Given the description of an element on the screen output the (x, y) to click on. 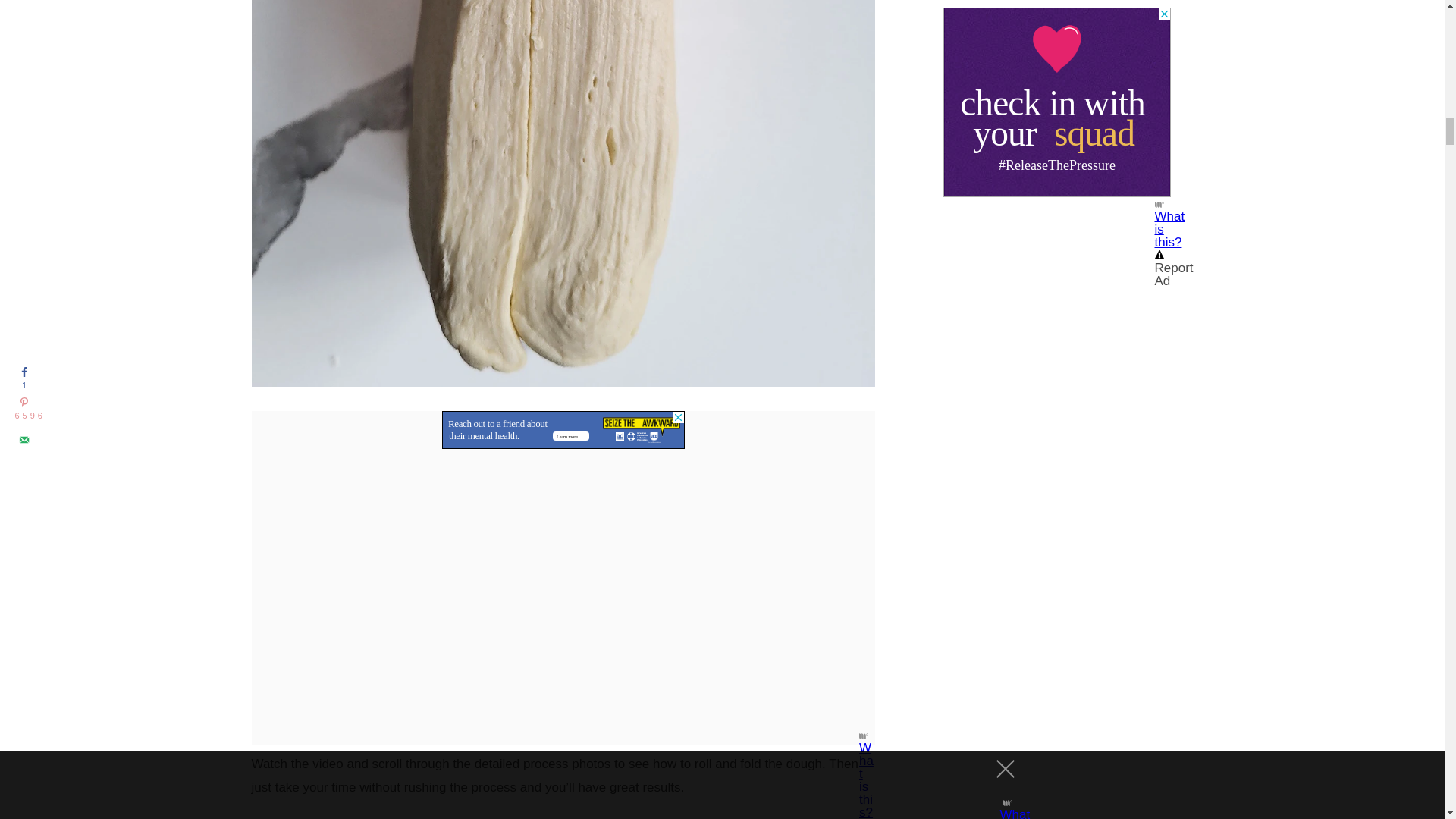
3rd party ad content (563, 429)
